Given the description of an element on the screen output the (x, y) to click on. 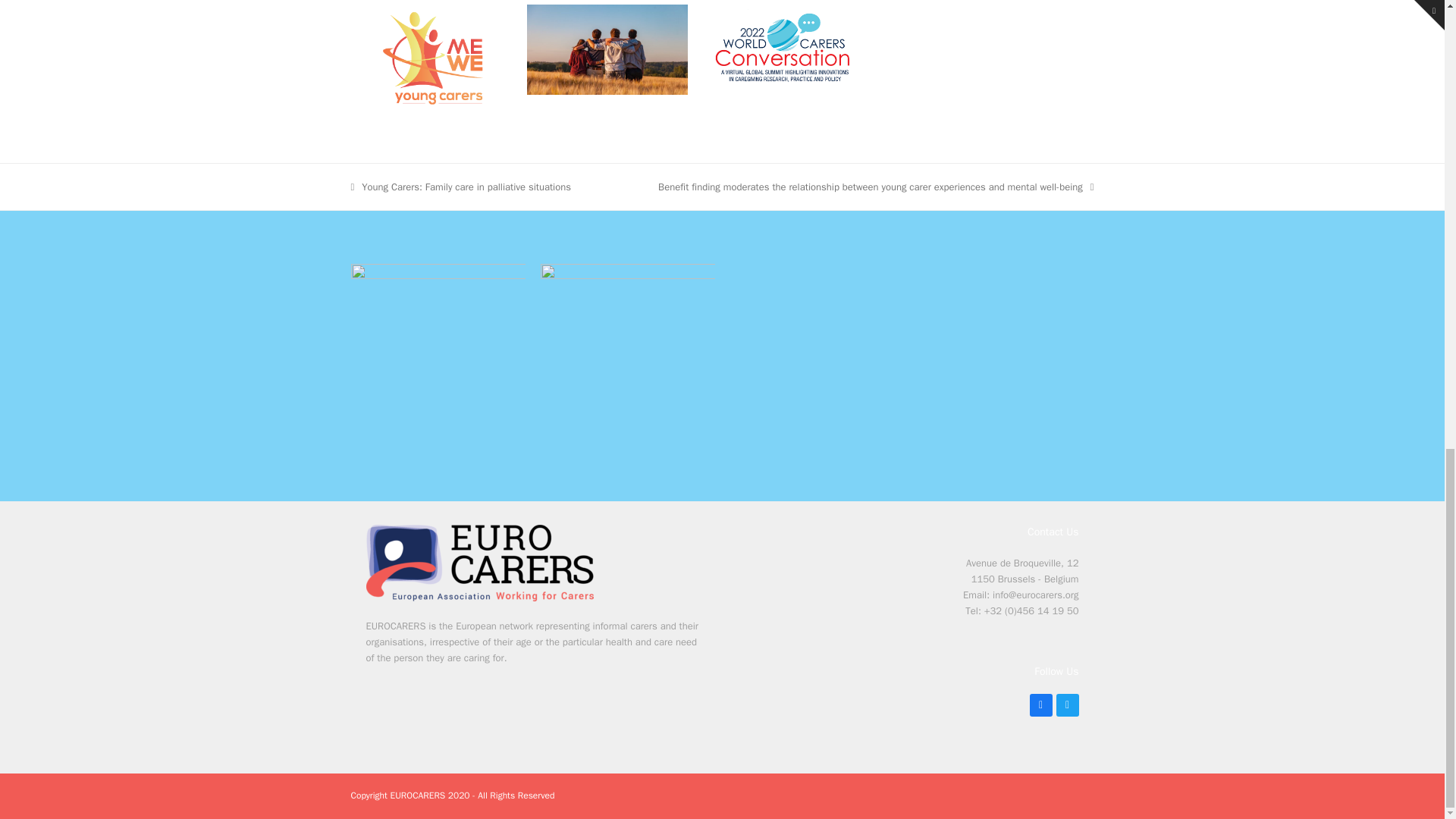
Facebook (1040, 704)
Twitter (1066, 704)
